Given the description of an element on the screen output the (x, y) to click on. 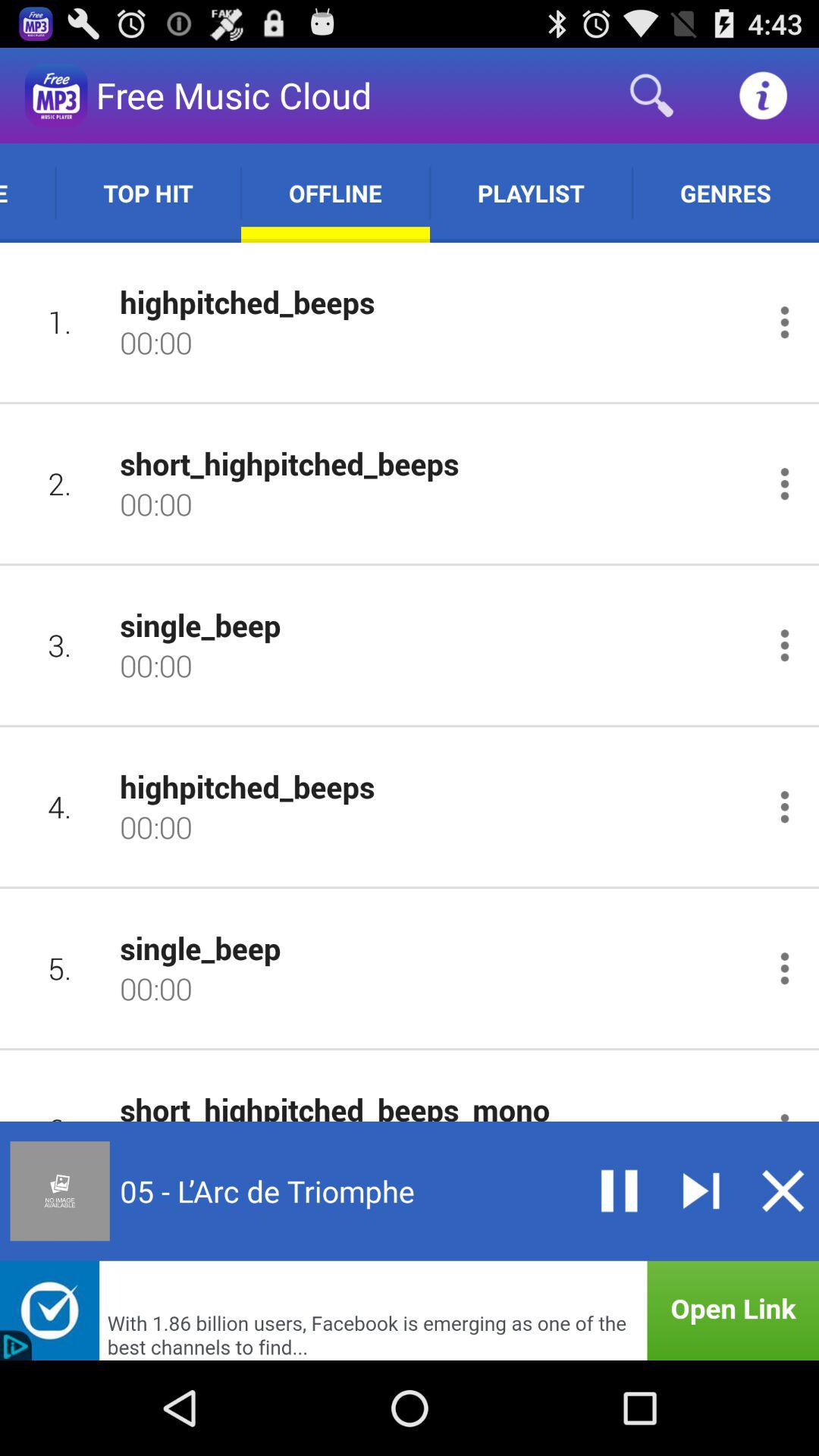
press the icon to the left of short_highpitched_beeps_mono icon (59, 1100)
